Given the description of an element on the screen output the (x, y) to click on. 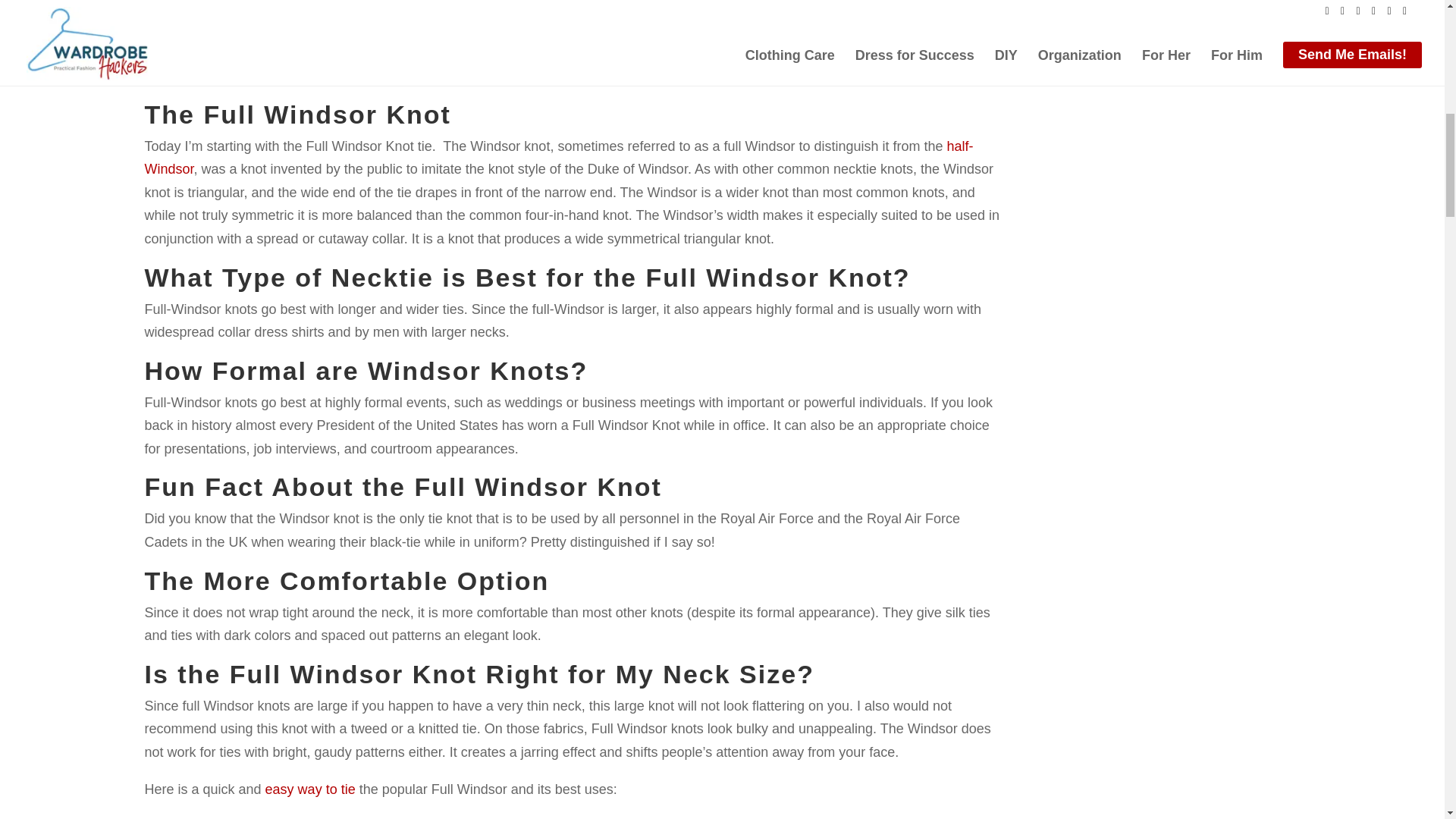
knots that you could tie (251, 75)
How to Tie a Bow Tie on Someone Else (309, 789)
easy way to tie (309, 789)
half-Windsor (558, 157)
